Given the description of an element on the screen output the (x, y) to click on. 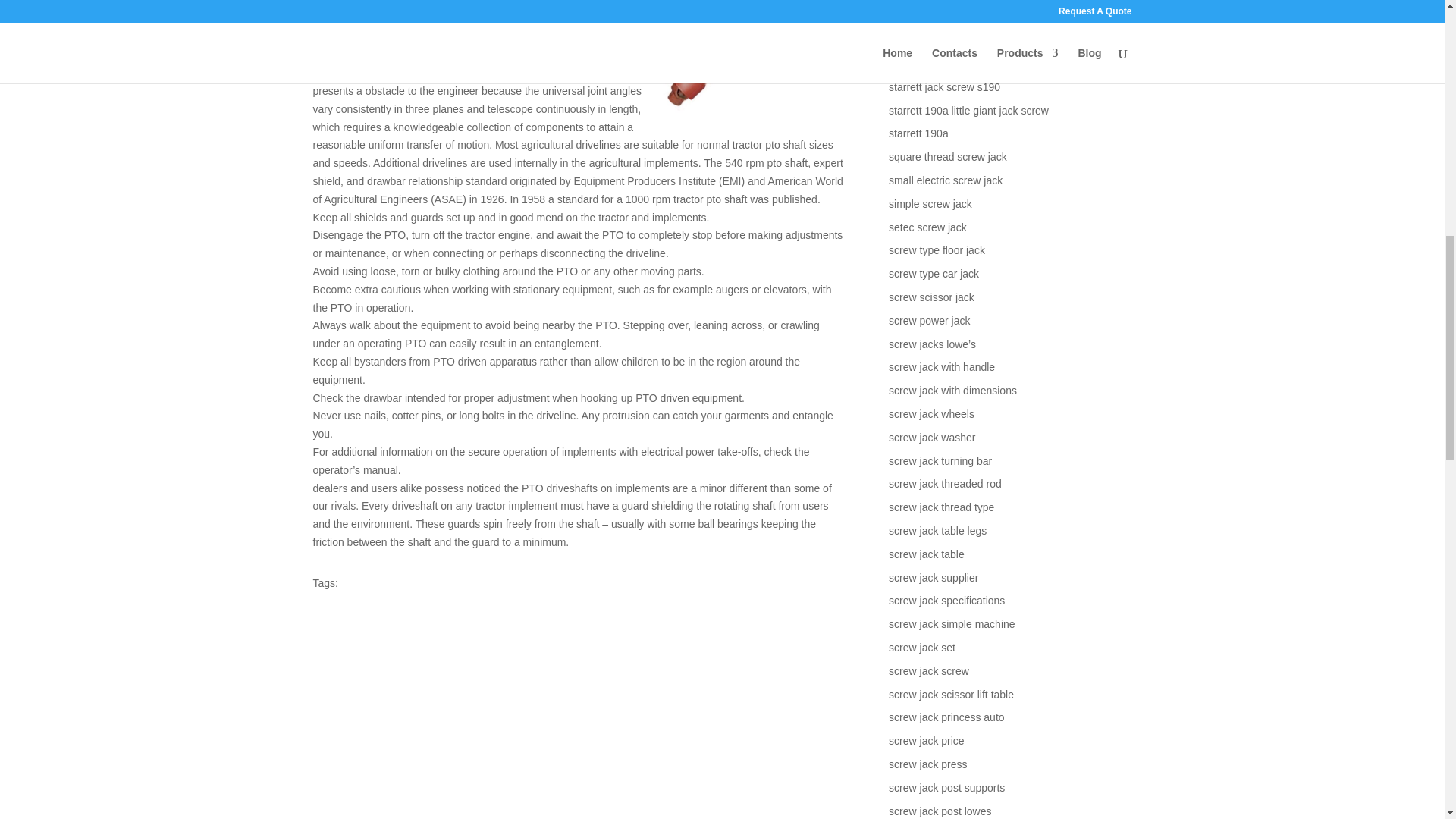
square thread screw jack (947, 156)
strongway 25 ton screw jack (955, 16)
strongway 15 ton screw jack (955, 39)
screw power jack (928, 320)
screw scissor jack (931, 297)
starrett sf190 (919, 63)
screw jack with handle (941, 367)
starrett jack screw s190 (944, 87)
setec screw jack (927, 227)
small electric screw jack (945, 180)
simple screw jack (930, 203)
screw jack with dimensions (952, 390)
screw type floor jack (936, 250)
starrett 190a little giant jack screw (968, 110)
screw type car jack (933, 273)
